Given the description of an element on the screen output the (x, y) to click on. 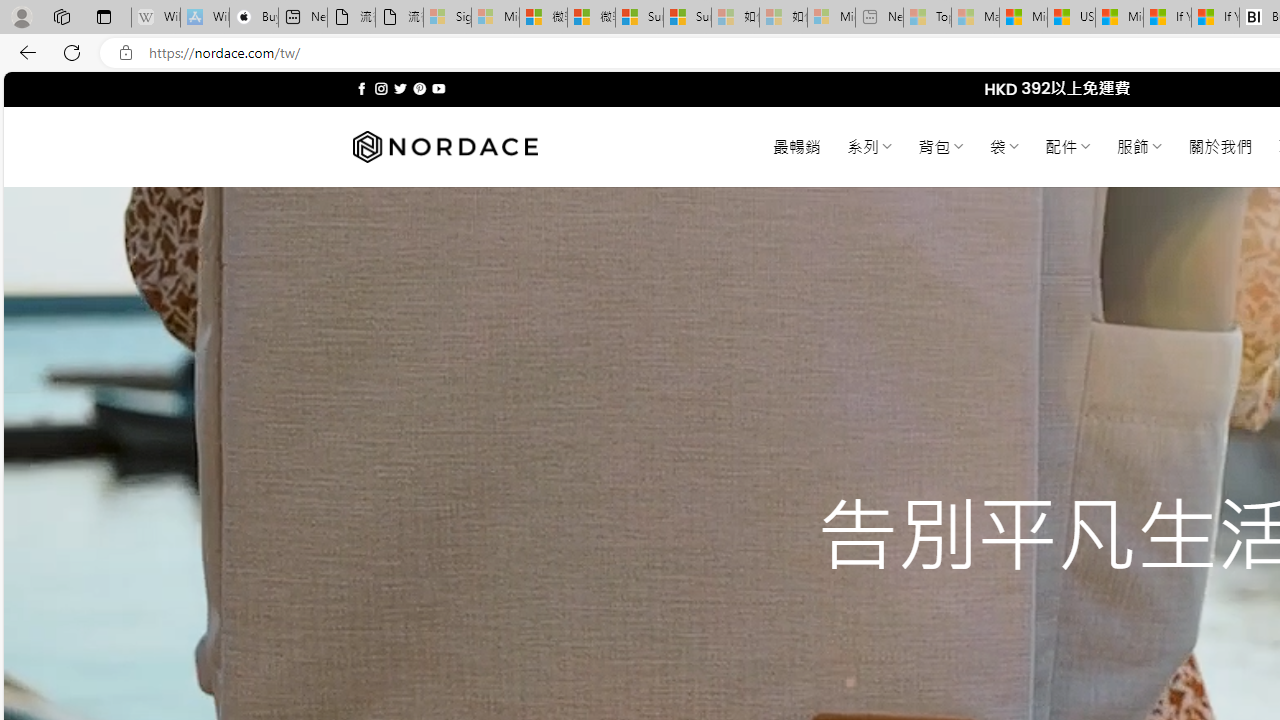
Sign in to your Microsoft account - Sleeping (447, 17)
Buy iPad - Apple (253, 17)
Follow on Facebook (361, 88)
US Heat Deaths Soared To Record High Last Year (1071, 17)
Microsoft account | Account Checkup - Sleeping (831, 17)
